Given the description of an element on the screen output the (x, y) to click on. 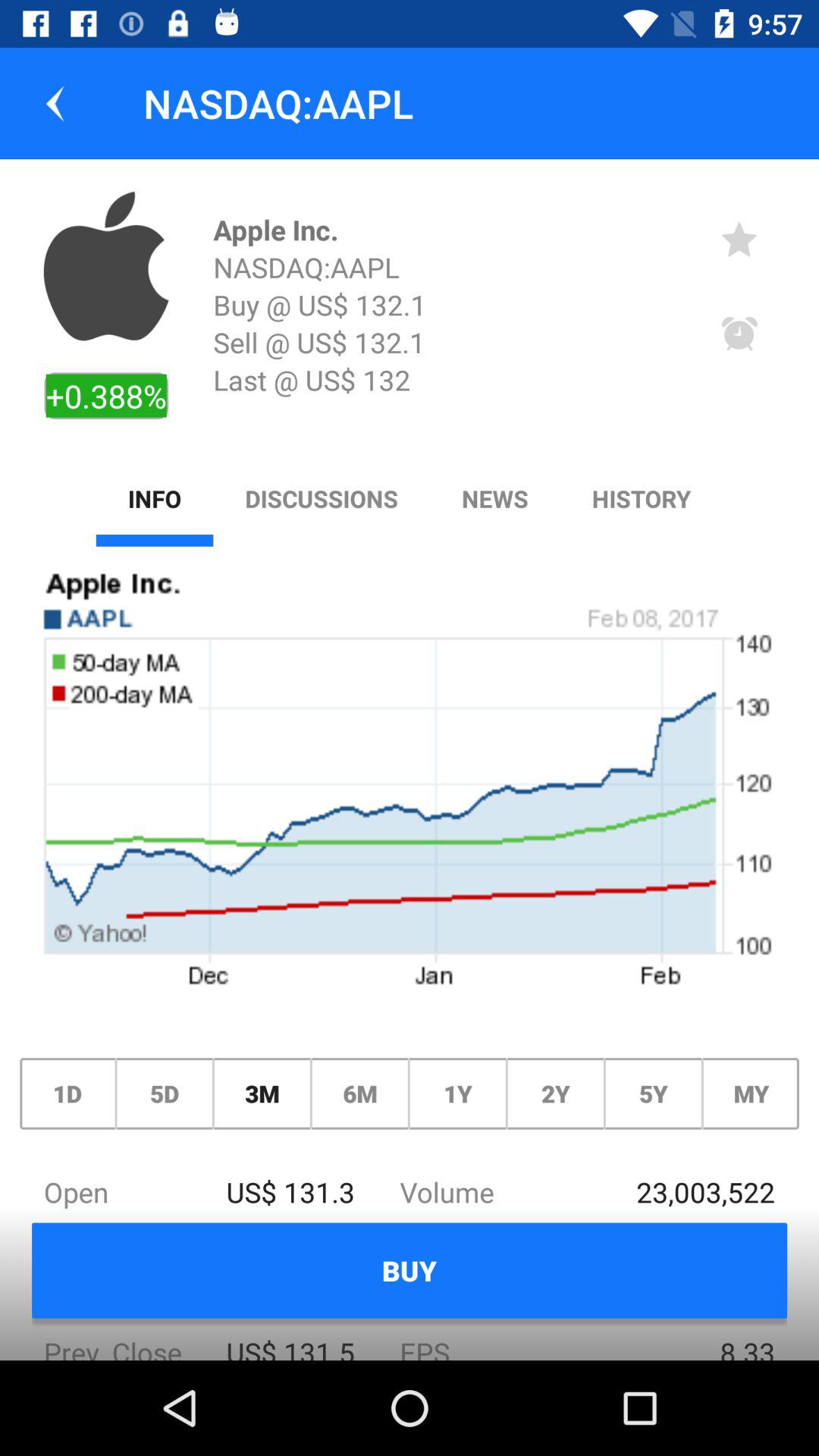
jump until 2y (555, 1093)
